Given the description of an element on the screen output the (x, y) to click on. 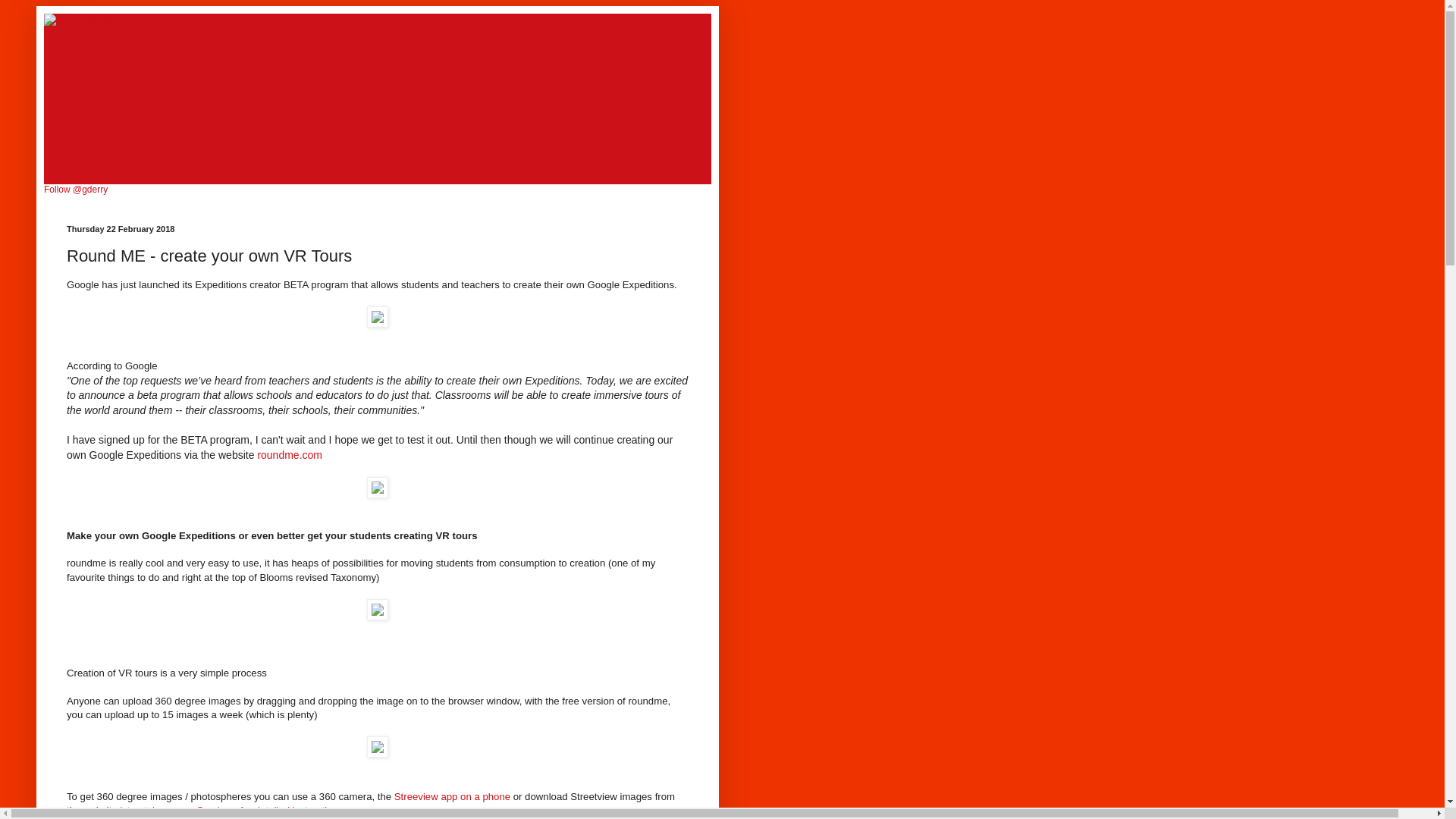
Streeview app on a phone (452, 796)
istreetview.com (153, 809)
See here for detailed instructions. (271, 809)
roundme.com (289, 454)
